Given the description of an element on the screen output the (x, y) to click on. 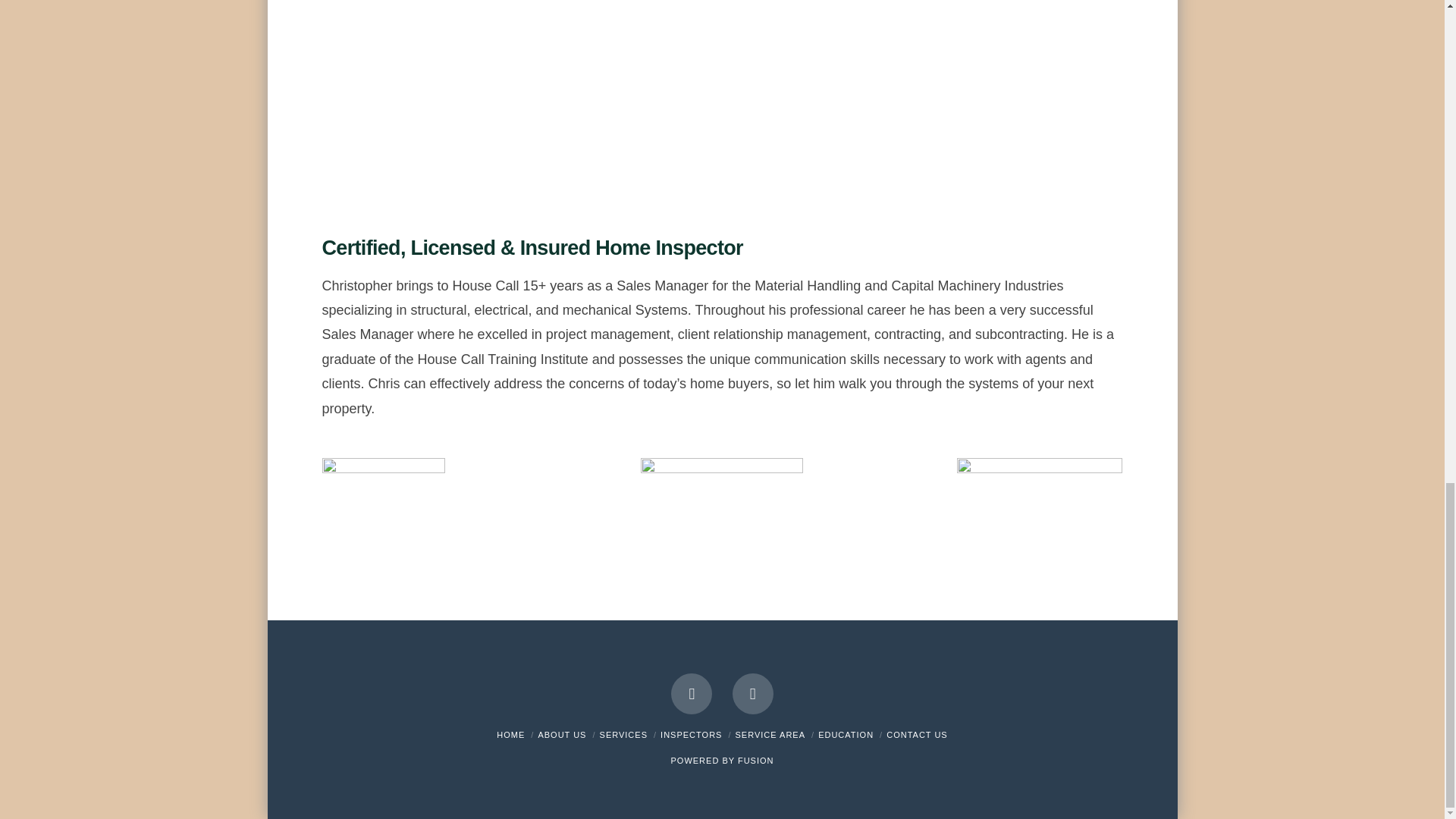
New Orleans Website Design (756, 759)
Facebook (691, 693)
Twitter (752, 693)
